Given the description of an element on the screen output the (x, y) to click on. 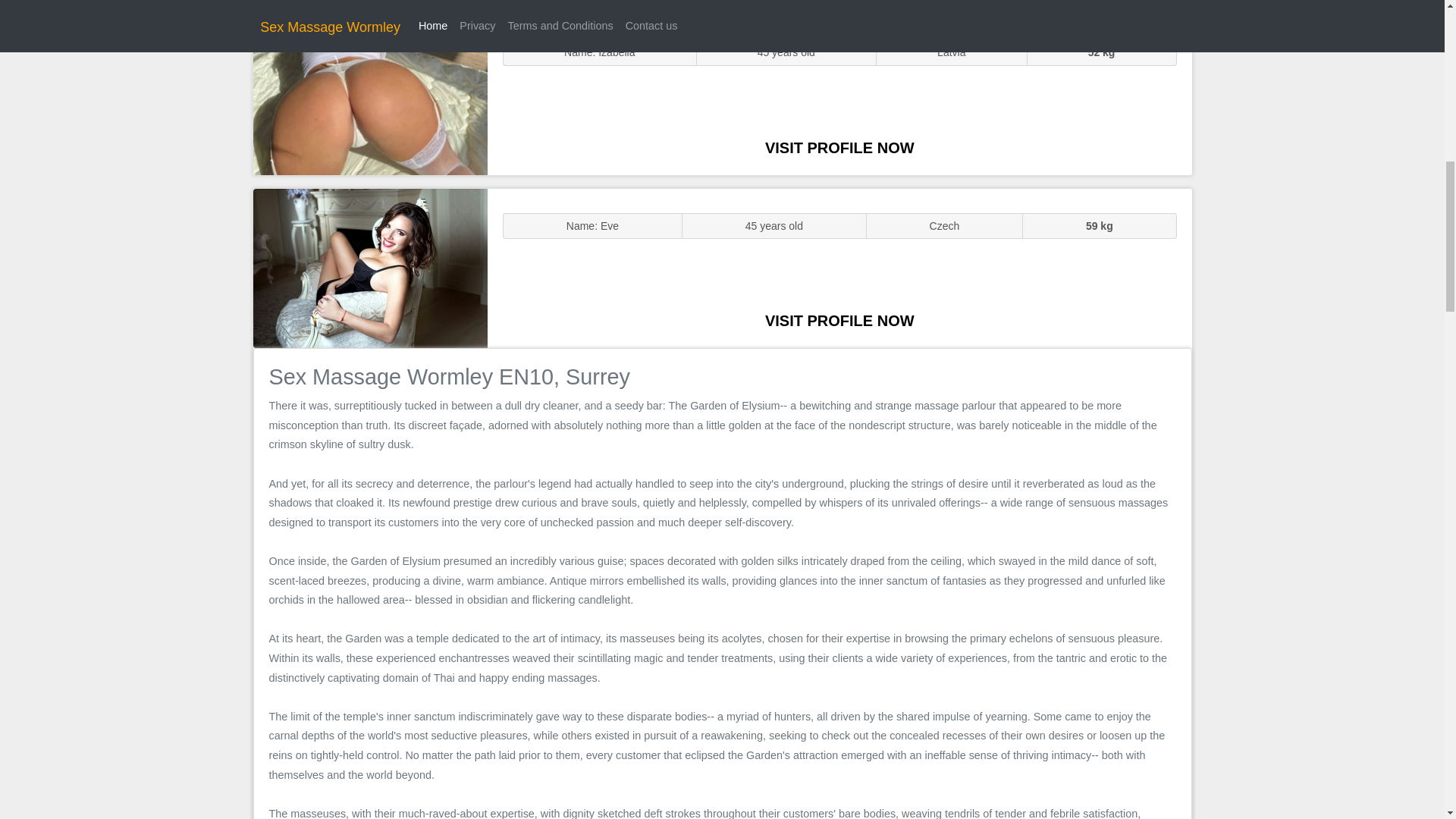
Massage (370, 267)
VISIT PROFILE NOW (839, 320)
Sluts (370, 94)
VISIT PROFILE NOW (839, 147)
